Given the description of an element on the screen output the (x, y) to click on. 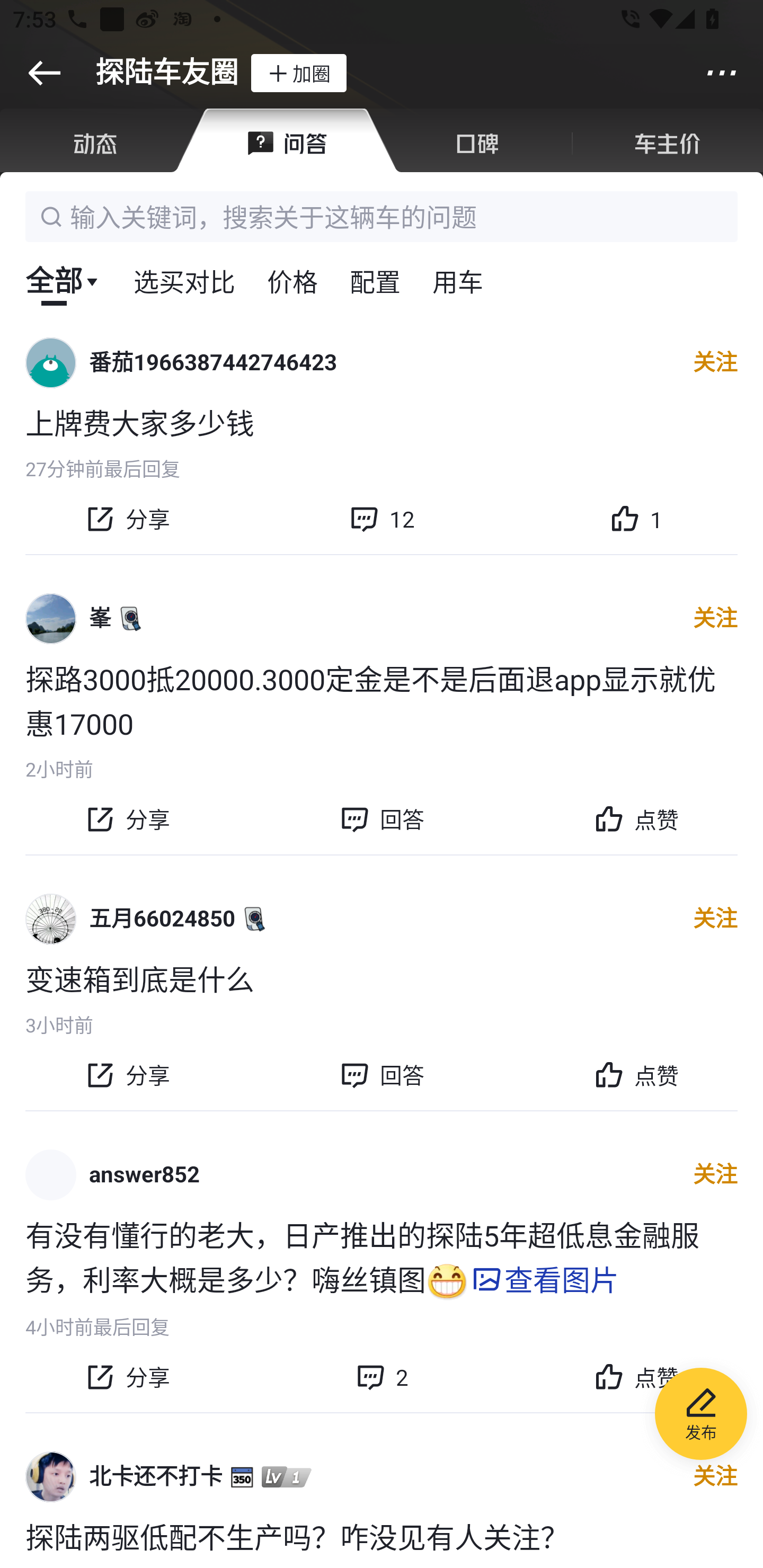
 (44, 72)
 加圈 (298, 72)
 (721, 72)
 输入关键词，搜索关于这辆车的问题 (381, 216)
全部  (63, 279)
选买对比 (184, 279)
价格 (292, 279)
配置 (374, 279)
用车 (457, 279)
关注 (714, 362)
番茄1966387442746423 (213, 362)
上牌费大家多少钱 (381, 421)
 分享 (127, 518)
 12 (381, 518)
1 (635, 518)
关注 (714, 618)
峯 (100, 618)
探路3000抵20000.3000定金是不是后面退app显示就优惠17000 (381, 699)
 分享 (127, 819)
 回答 (381, 819)
点赞 (635, 819)
关注 (714, 918)
五月66024850 (162, 918)
变速箱到底是什么 (381, 977)
 分享 (127, 1075)
 回答 (381, 1075)
点赞 (635, 1075)
关注 (714, 1175)
answer852 (144, 1174)
有没有懂行的老大，日产推出的探陆5年超低息金融服务，利率大概是多少？嗨丝镇图[呲牙]  查看图片 (381, 1257)
 分享 (127, 1377)
 2 (381, 1377)
点赞 (635, 1377)
 发布 (701, 1416)
关注 (714, 1476)
北卡还不打卡 (155, 1476)
探陆两驱低配不生产吗？咋没见有人关注？ (381, 1535)
